Given the description of an element on the screen output the (x, y) to click on. 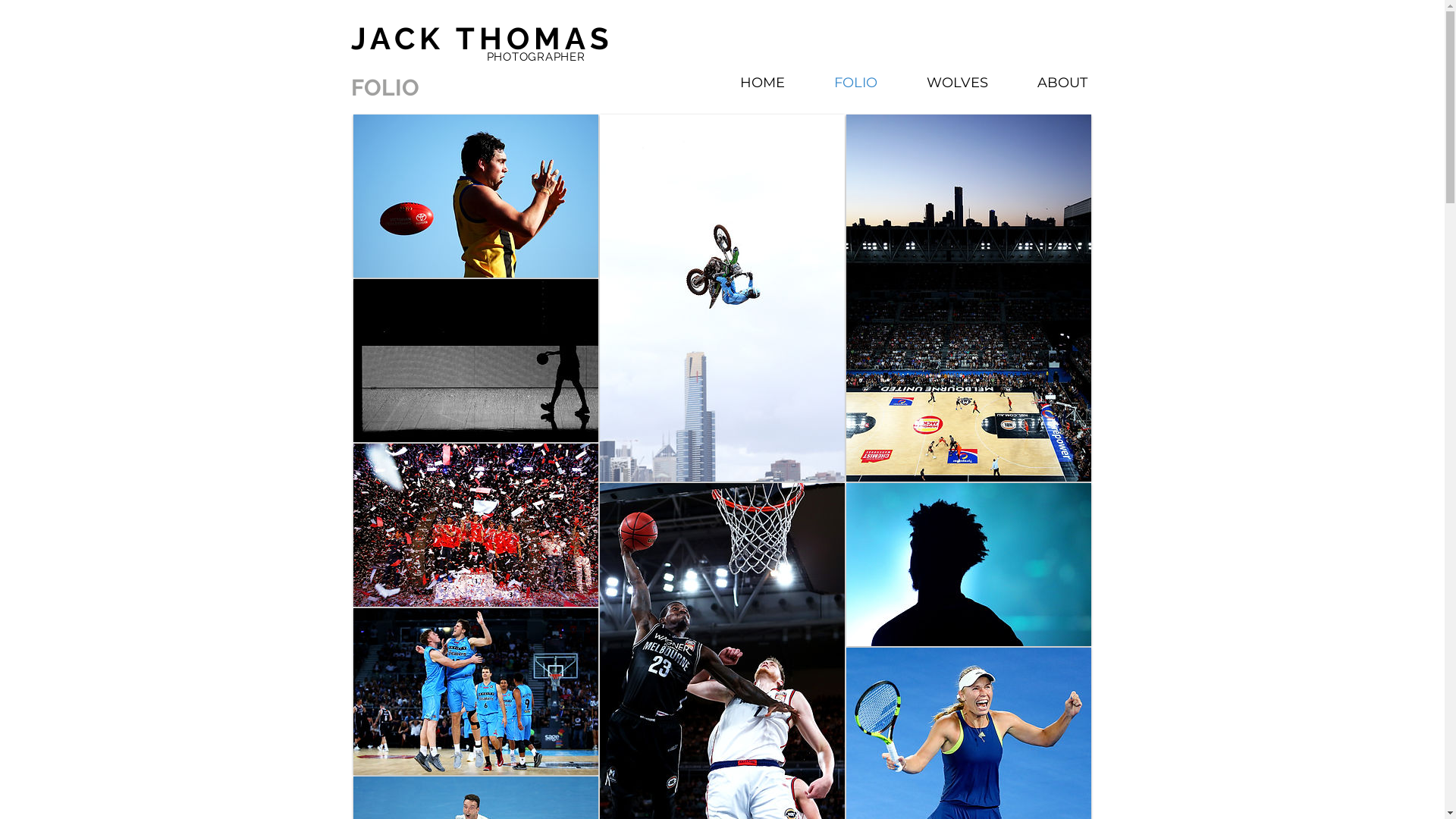
FOLIO Element type: text (855, 79)
ABOUT Element type: text (1062, 79)
JACK THOMAS Element type: text (481, 37)
WOLVES Element type: text (957, 79)
HOME Element type: text (762, 79)
